Given the description of an element on the screen output the (x, y) to click on. 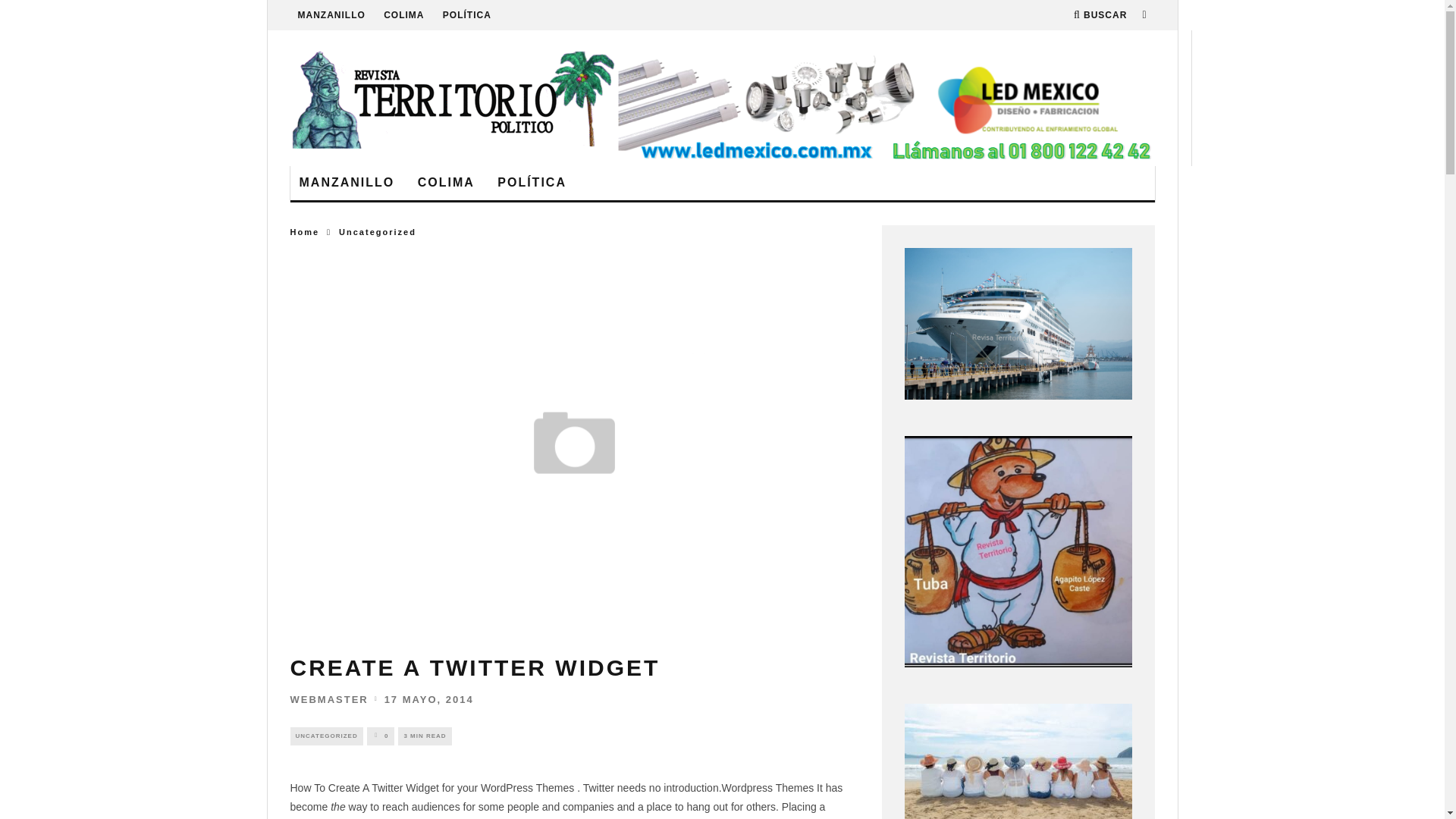
UNCATEGORIZED (325, 736)
Buscar (1100, 15)
POR EL CUIDADO DE TU SALUD (1017, 323)
COLIMA (403, 15)
Home (303, 231)
WEBMASTER (328, 699)
3 MIN READ (424, 736)
MANZANILLO (331, 15)
MANZANILLO (346, 182)
Uncategorized (377, 231)
BUSCAR (1100, 15)
COLIMA (446, 182)
